Given the description of an element on the screen output the (x, y) to click on. 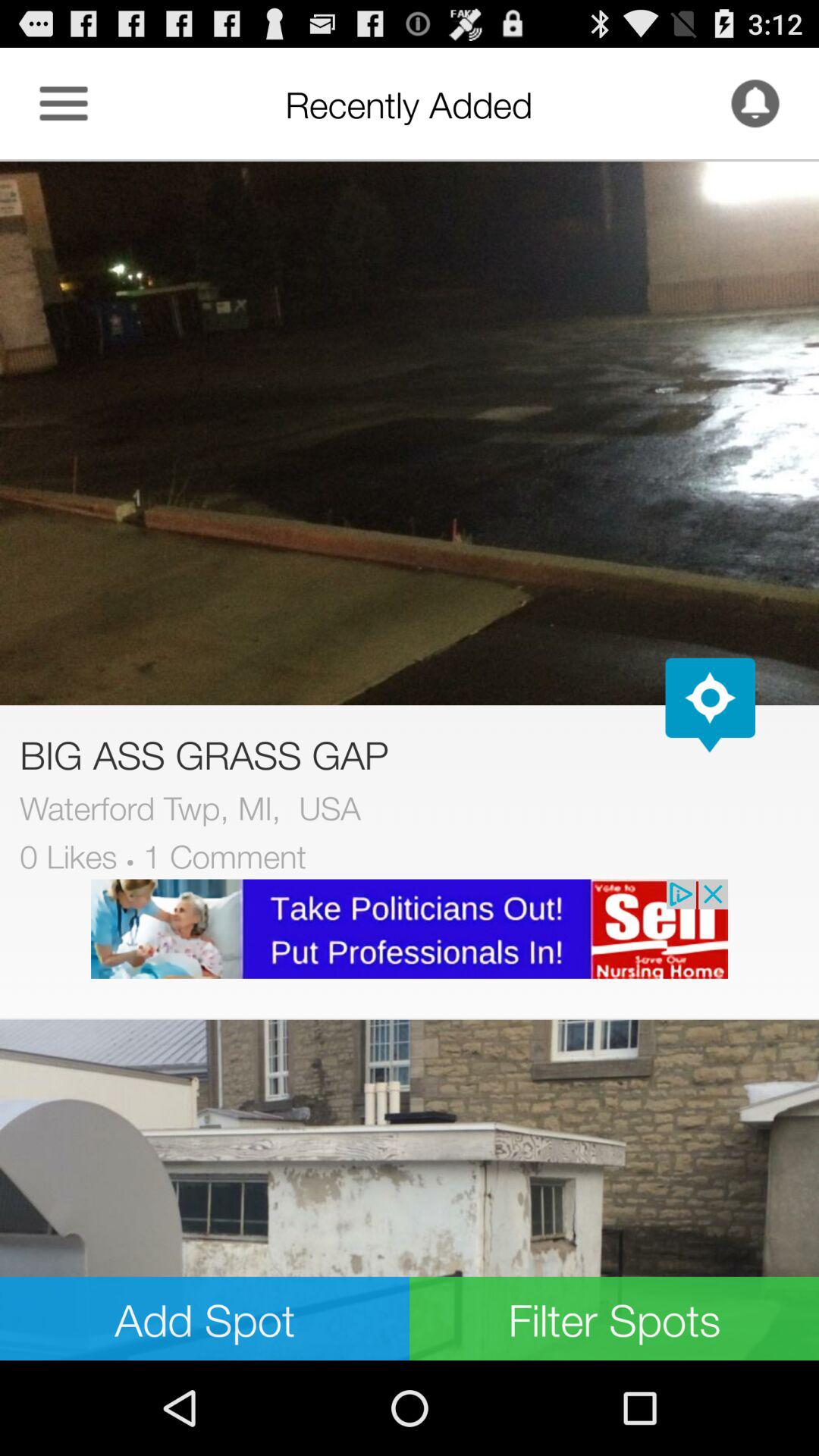
share the article (409, 1189)
